Given the description of an element on the screen output the (x, y) to click on. 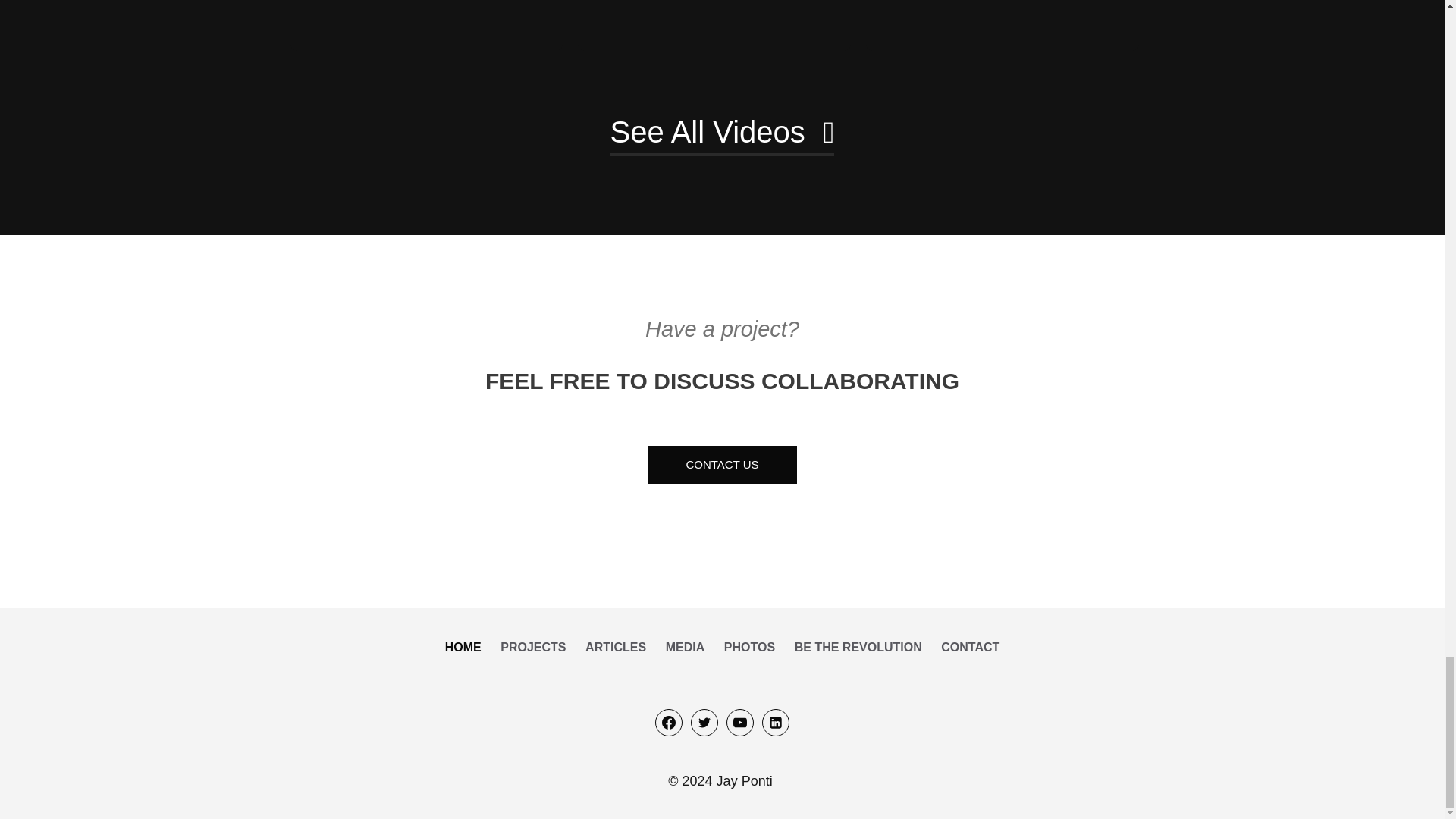
PROJECTS (532, 646)
ARTICLES (615, 646)
MEDIA (685, 646)
See All Videos (722, 134)
BE THE REVOLUTION (857, 646)
CONTACT (970, 646)
PHOTOS (749, 646)
HOME (463, 646)
CONTACT US (721, 464)
